Given the description of an element on the screen output the (x, y) to click on. 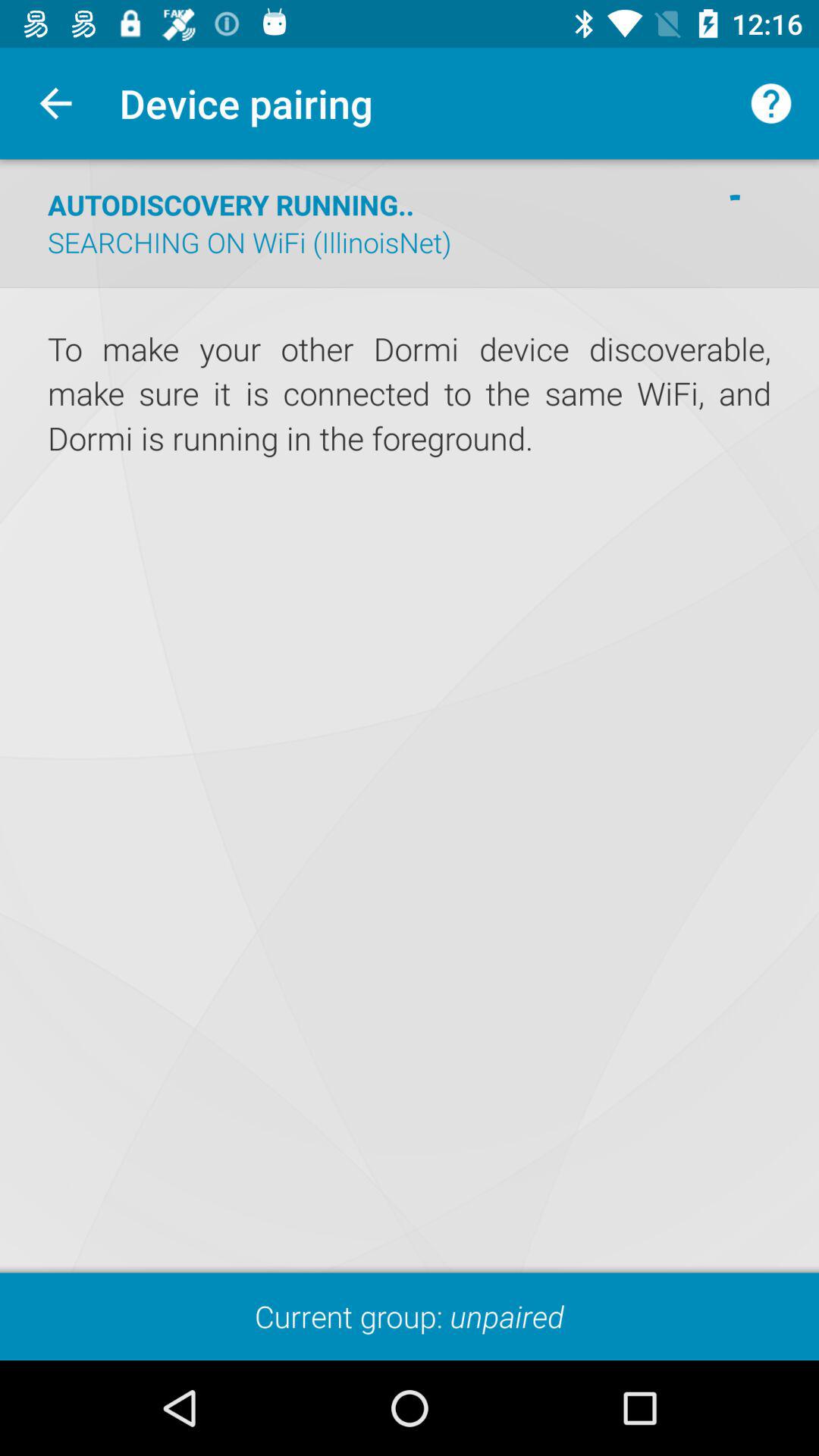
tap icon above current group: unpaired (409, 394)
